Given the description of an element on the screen output the (x, y) to click on. 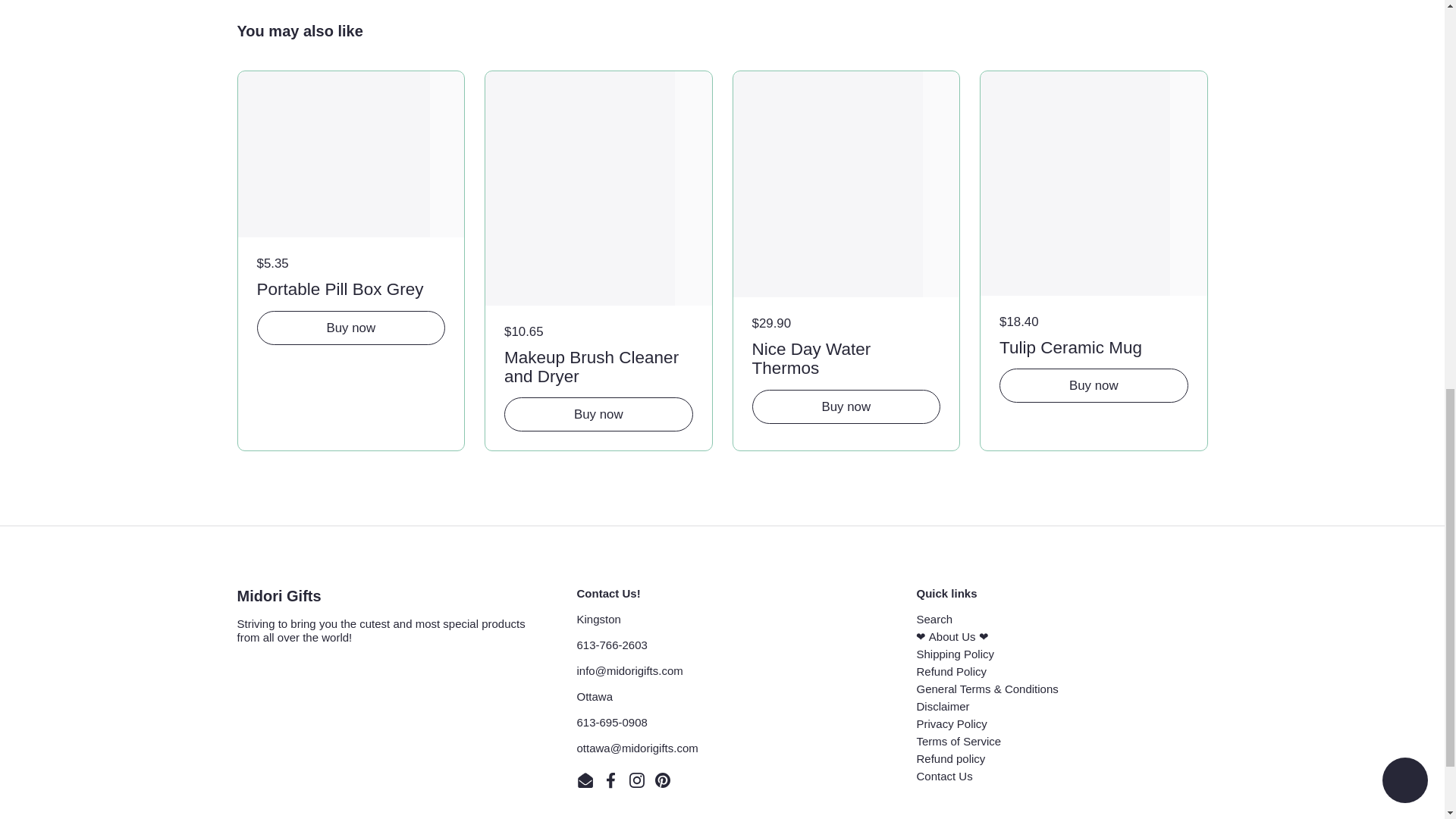
Makeup Brush Cleaner and Dryer (598, 364)
Nice Day Water Thermos (846, 355)
Tulip Ceramic Mug (1093, 345)
Portable Pill Box Grey (350, 286)
